Given the description of an element on the screen output the (x, y) to click on. 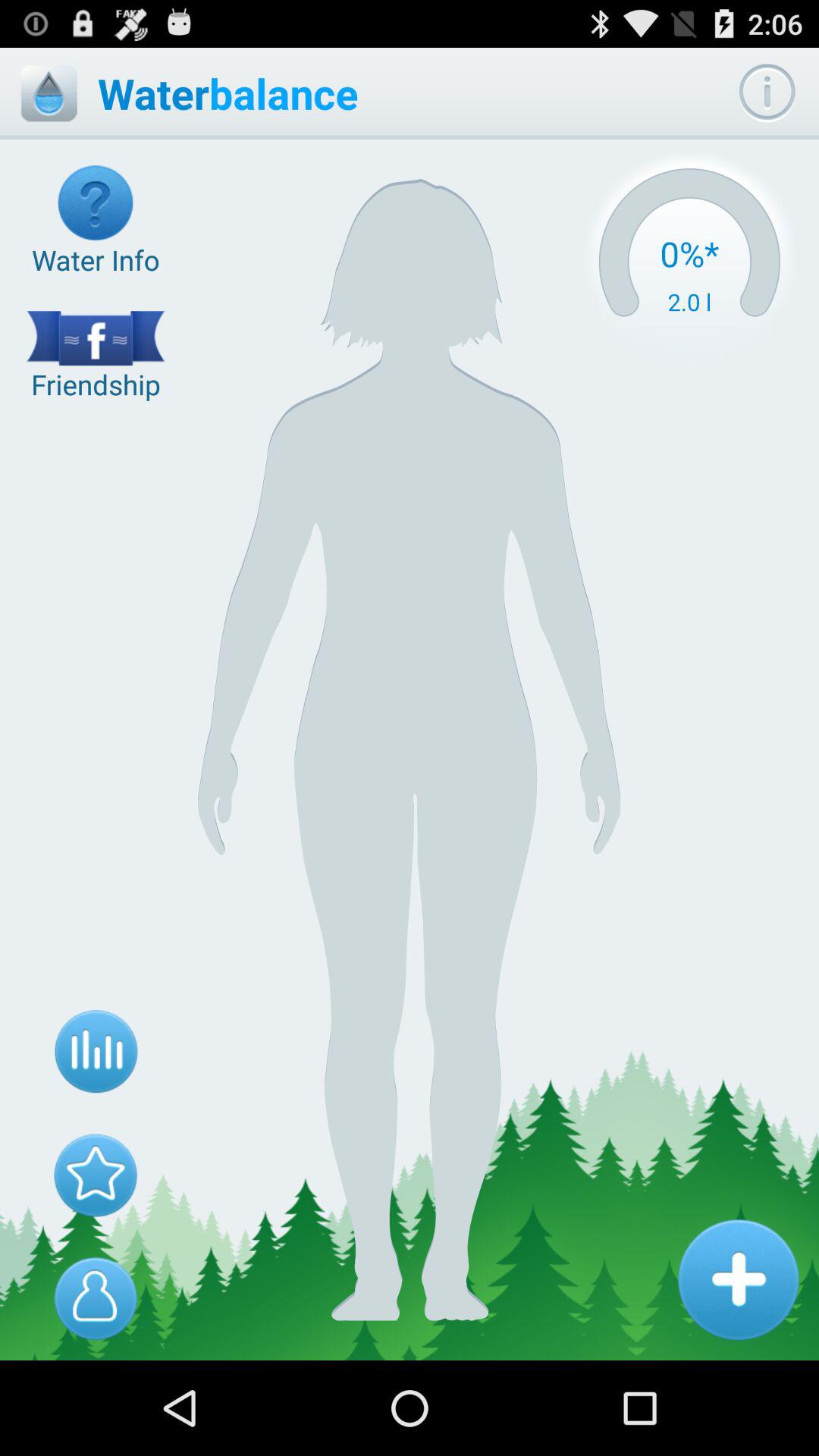
select body (95, 1298)
